Given the description of an element on the screen output the (x, y) to click on. 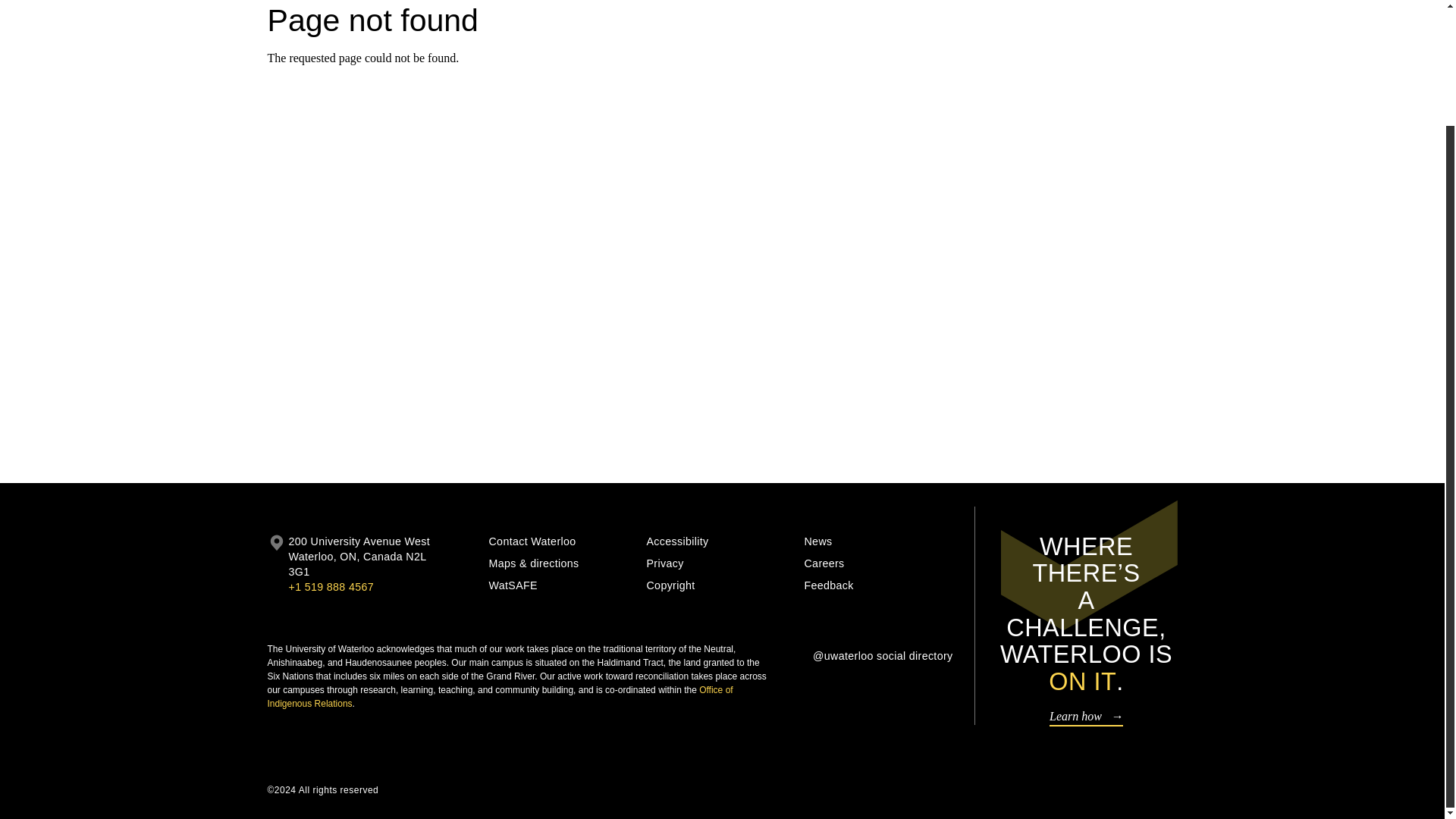
Accessibility (719, 541)
Contact Waterloo (560, 541)
News (876, 541)
WatSAFE (560, 585)
Privacy (719, 563)
Copyright (719, 585)
Feedback (876, 585)
Office of Indigenous Relations (499, 696)
Careers (876, 563)
